Given the description of an element on the screen output the (x, y) to click on. 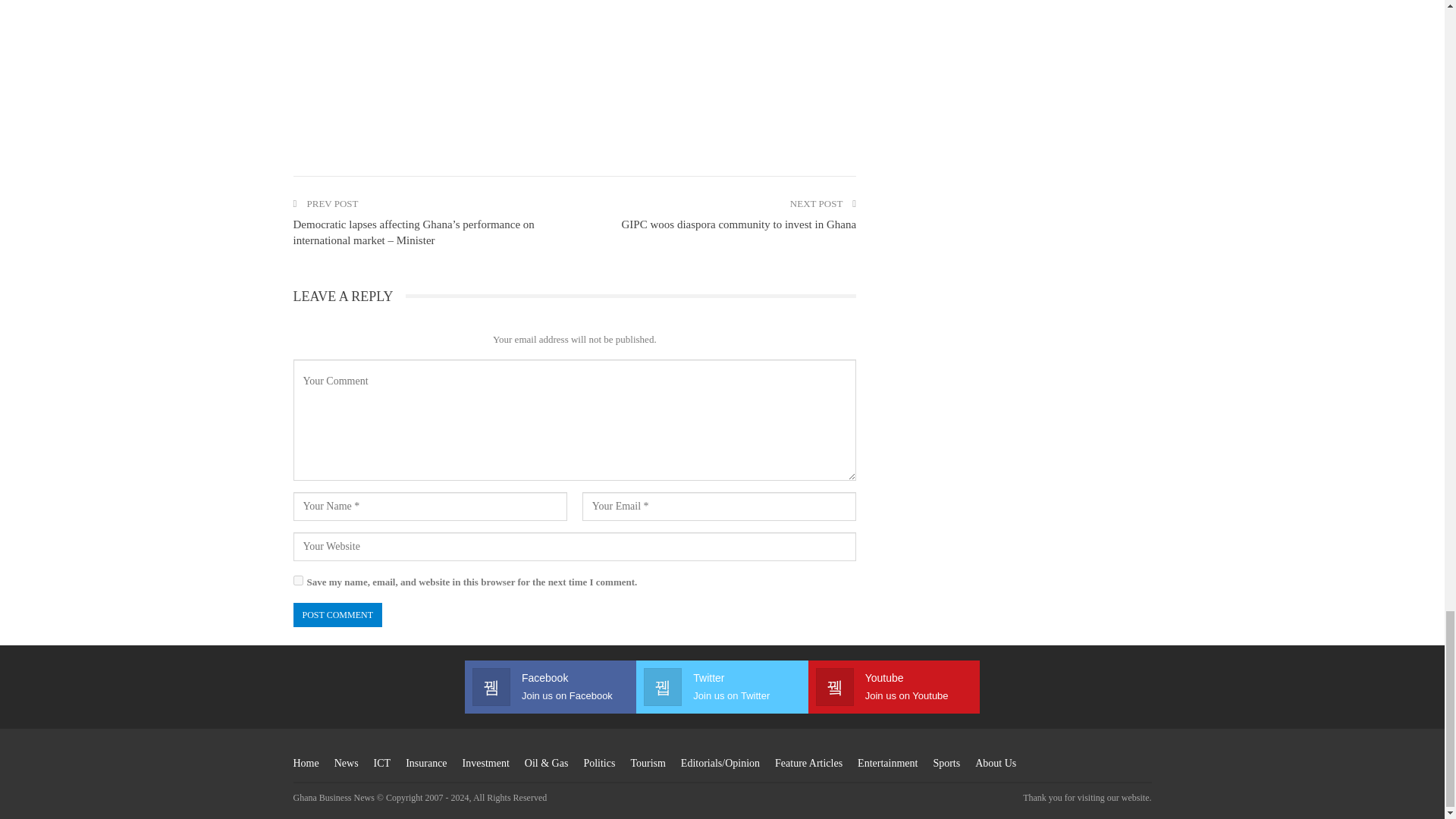
yes (297, 580)
Post Comment (336, 615)
GIPC woos diaspora community to invest in Ghana (739, 224)
Post Comment (336, 615)
